Given the description of an element on the screen output the (x, y) to click on. 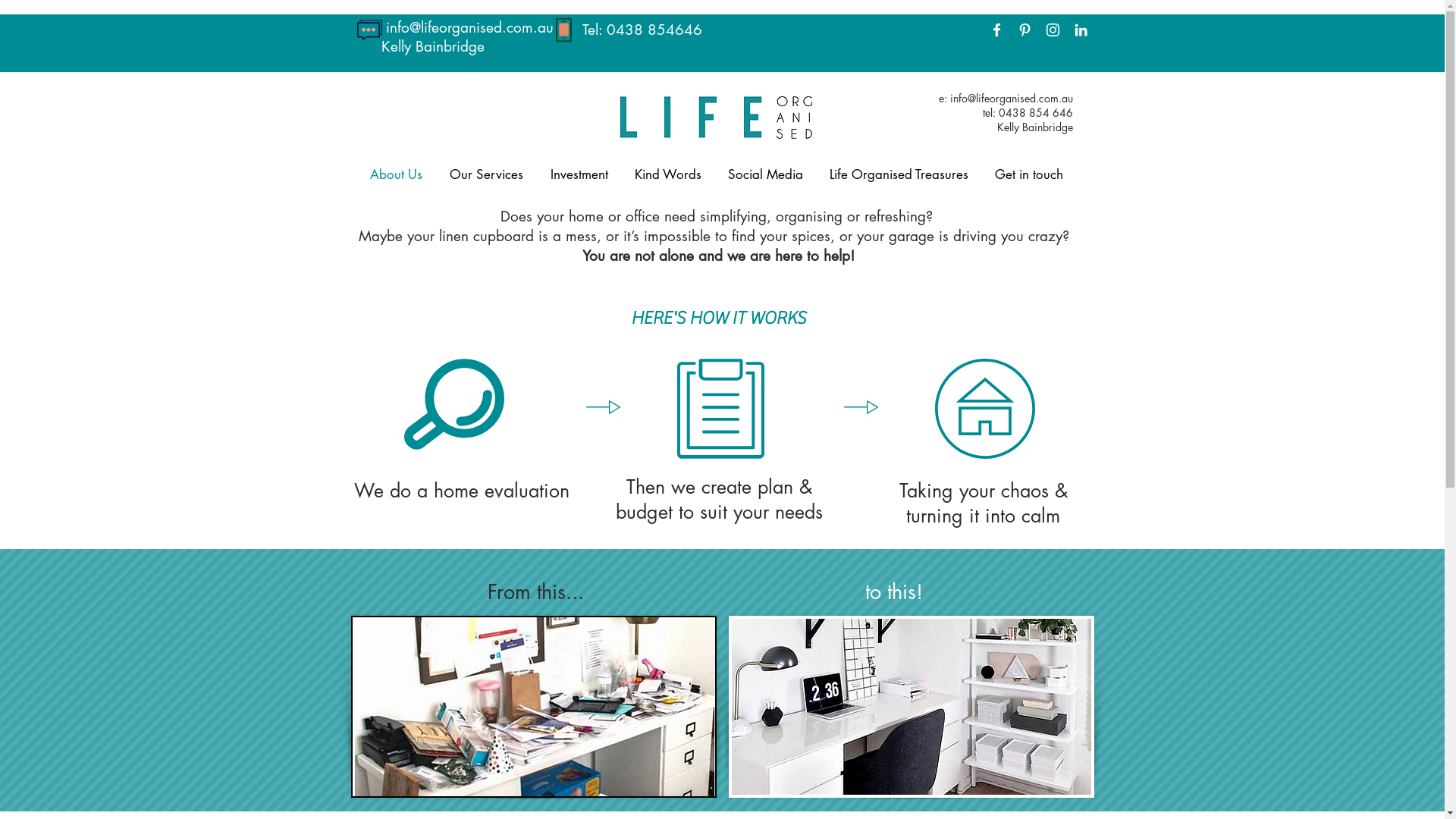
Life Organised Treasures Element type: text (897, 174)
Social Media Element type: text (764, 174)
Tel: 0438 854646 Element type: text (642, 29)
Our Services Element type: text (486, 174)
Get in touch Element type: text (1028, 174)
Kind Words Element type: text (667, 174)
Investment Element type: text (578, 174)
About Us Element type: text (395, 174)
info@lifeorganised.com.au Element type: text (468, 27)
info@lifeorganised.com.au Element type: text (1010, 98)
